Given the description of an element on the screen output the (x, y) to click on. 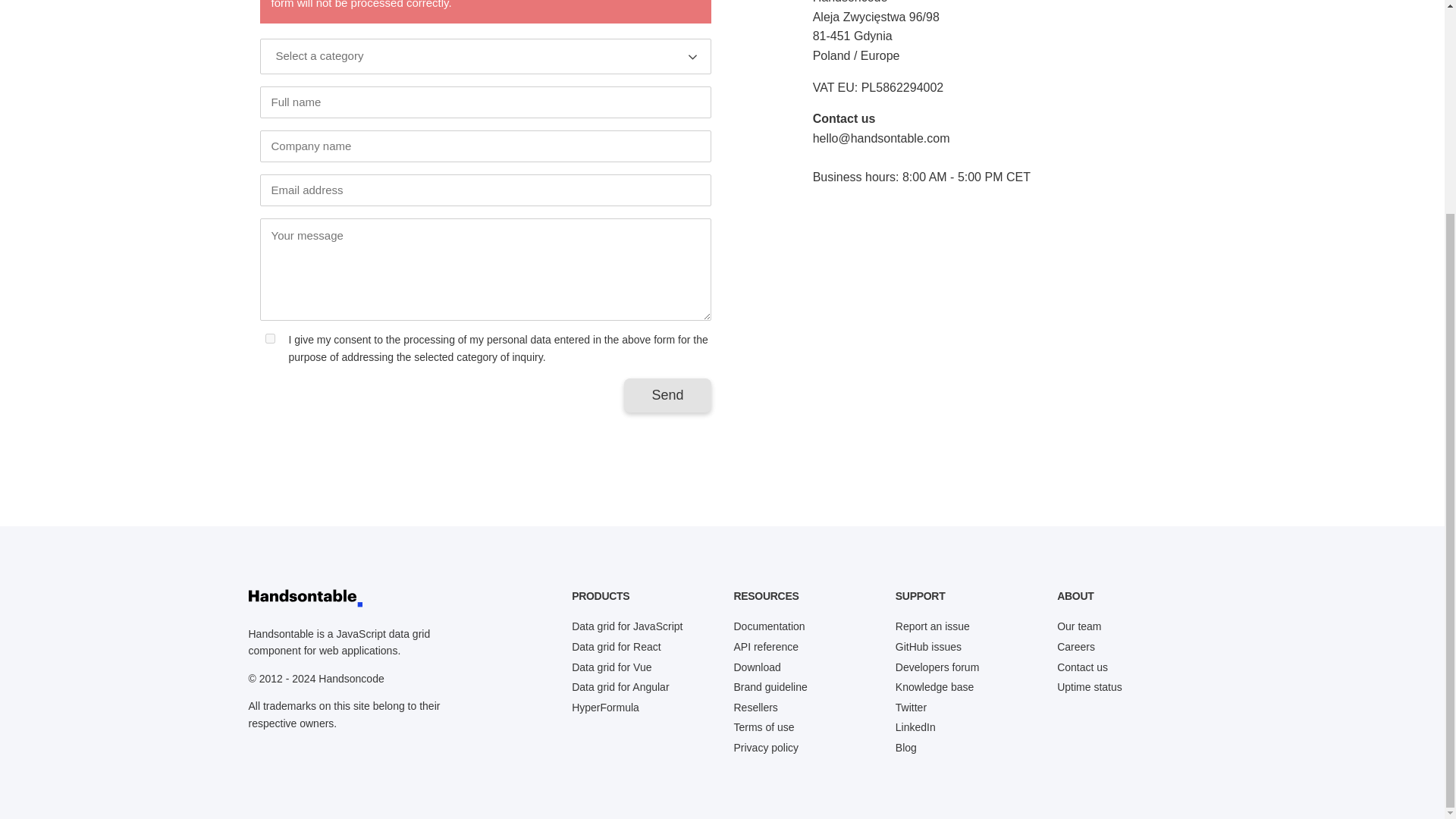
GitHub issues (927, 646)
Terms of use (763, 727)
HyperFormula (605, 707)
Developers forum (937, 666)
Blog (906, 747)
Data grid for JavaScript (627, 625)
Data grid for Vue (611, 666)
Documentation (769, 625)
Report an issue (932, 625)
Send (667, 395)
Privacy policy (765, 747)
Uptime status (1089, 686)
LinkedIn (915, 727)
Knowledge base (934, 686)
